Given the description of an element on the screen output the (x, y) to click on. 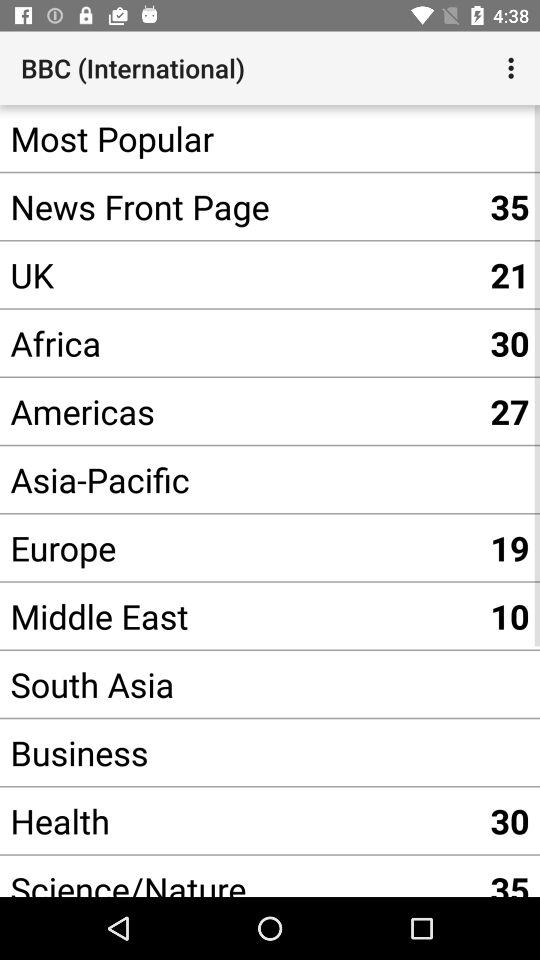
tap the 21 item (510, 274)
